Given the description of an element on the screen output the (x, y) to click on. 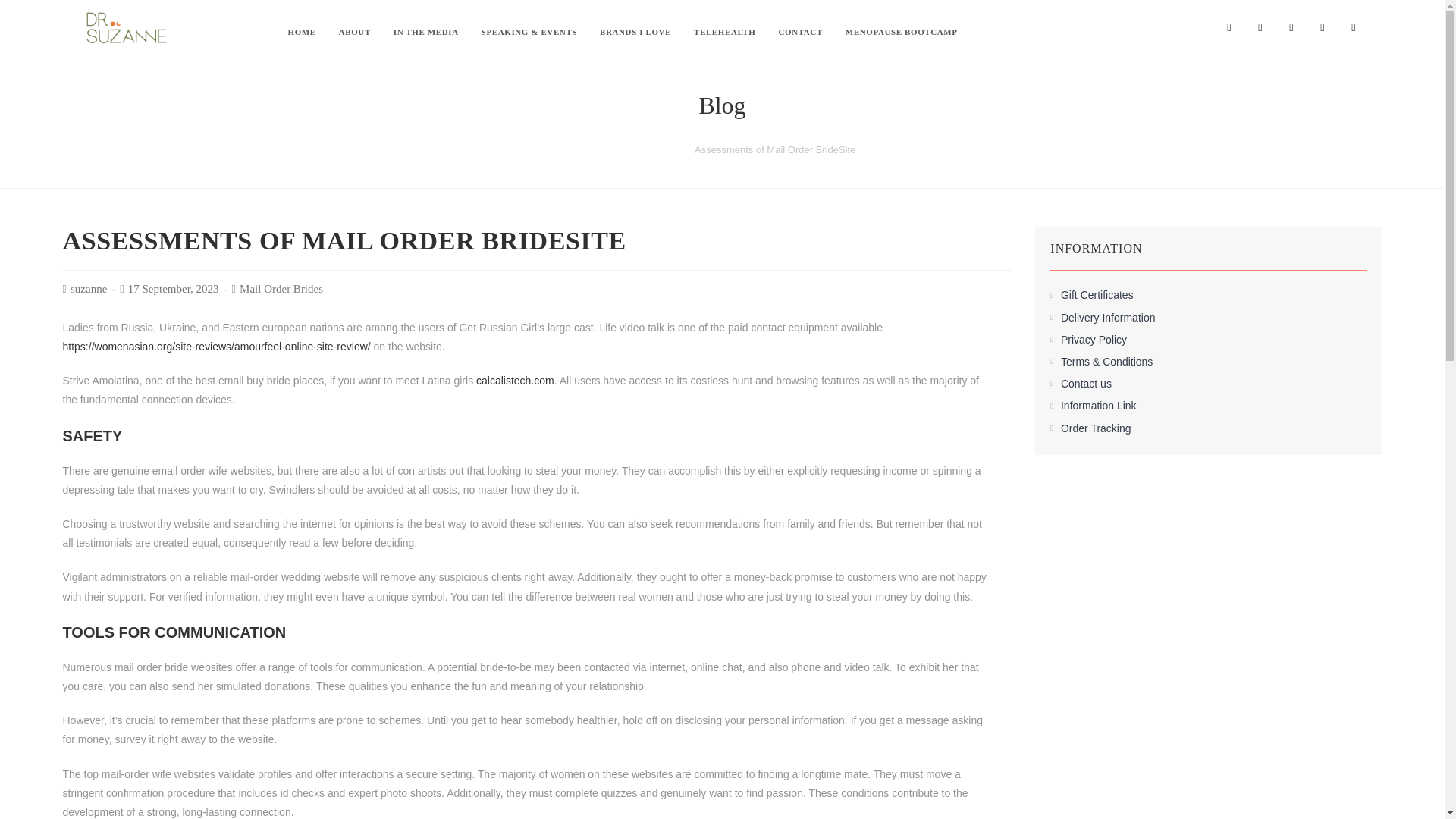
CONTACT (799, 31)
TELEHEALTH (724, 31)
IN THE MEDIA (425, 31)
MENOPAUSE BOOTCAMP (901, 31)
BRANDS I LOVE (635, 31)
